Given the description of an element on the screen output the (x, y) to click on. 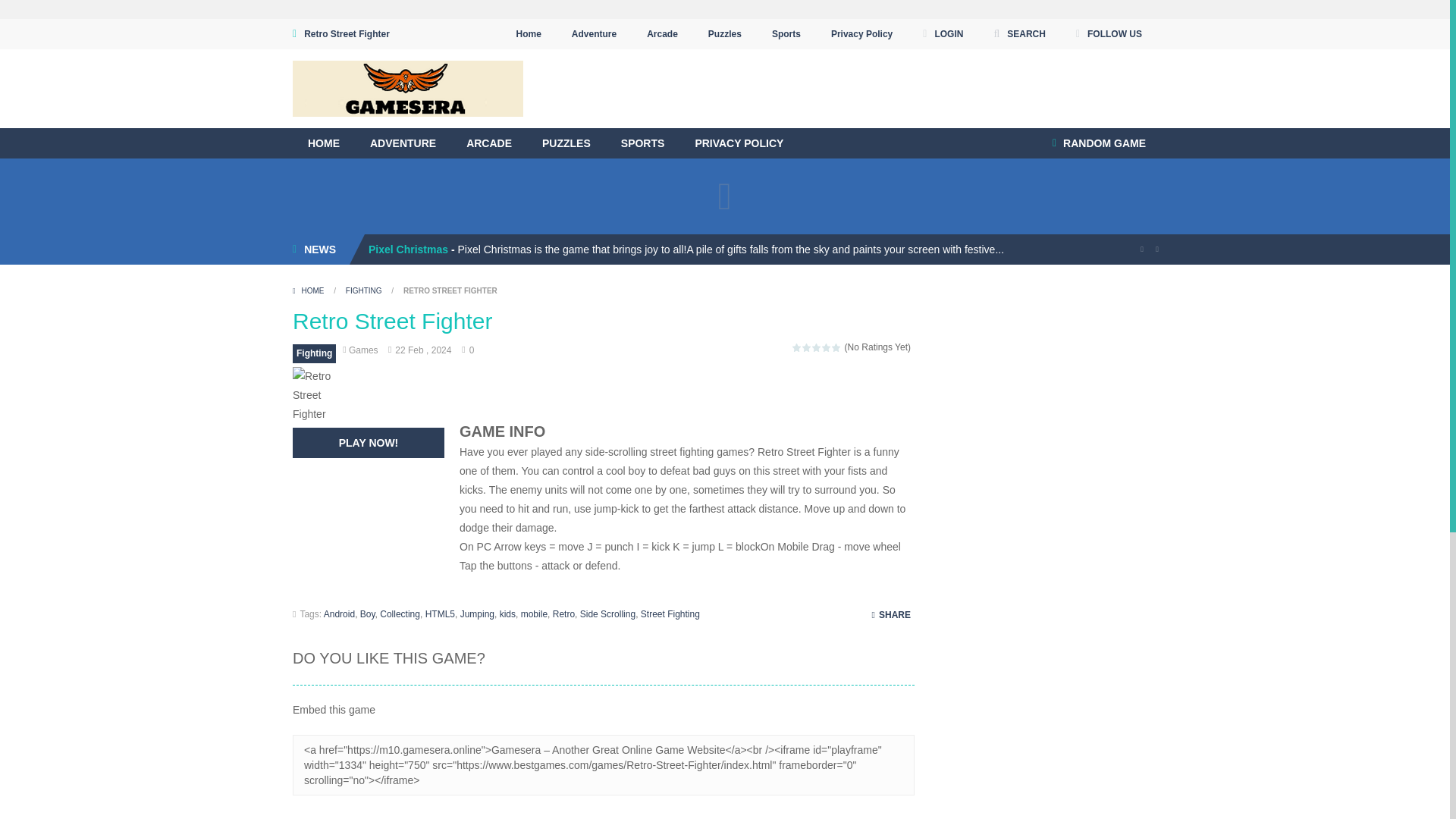
Home (527, 33)
SPORTS (642, 142)
RANDOM GAME (1099, 142)
FOLLOW US (1108, 33)
Puzzles (724, 33)
Privacy Policy (861, 33)
LOGIN (942, 33)
Play a random game! (1099, 142)
Arcade (661, 33)
HOME (323, 142)
Sports (786, 33)
SEARCH (1019, 33)
PRIVACY POLICY (738, 142)
PUZZLES (566, 142)
ADVENTURE (403, 142)
